Given the description of an element on the screen output the (x, y) to click on. 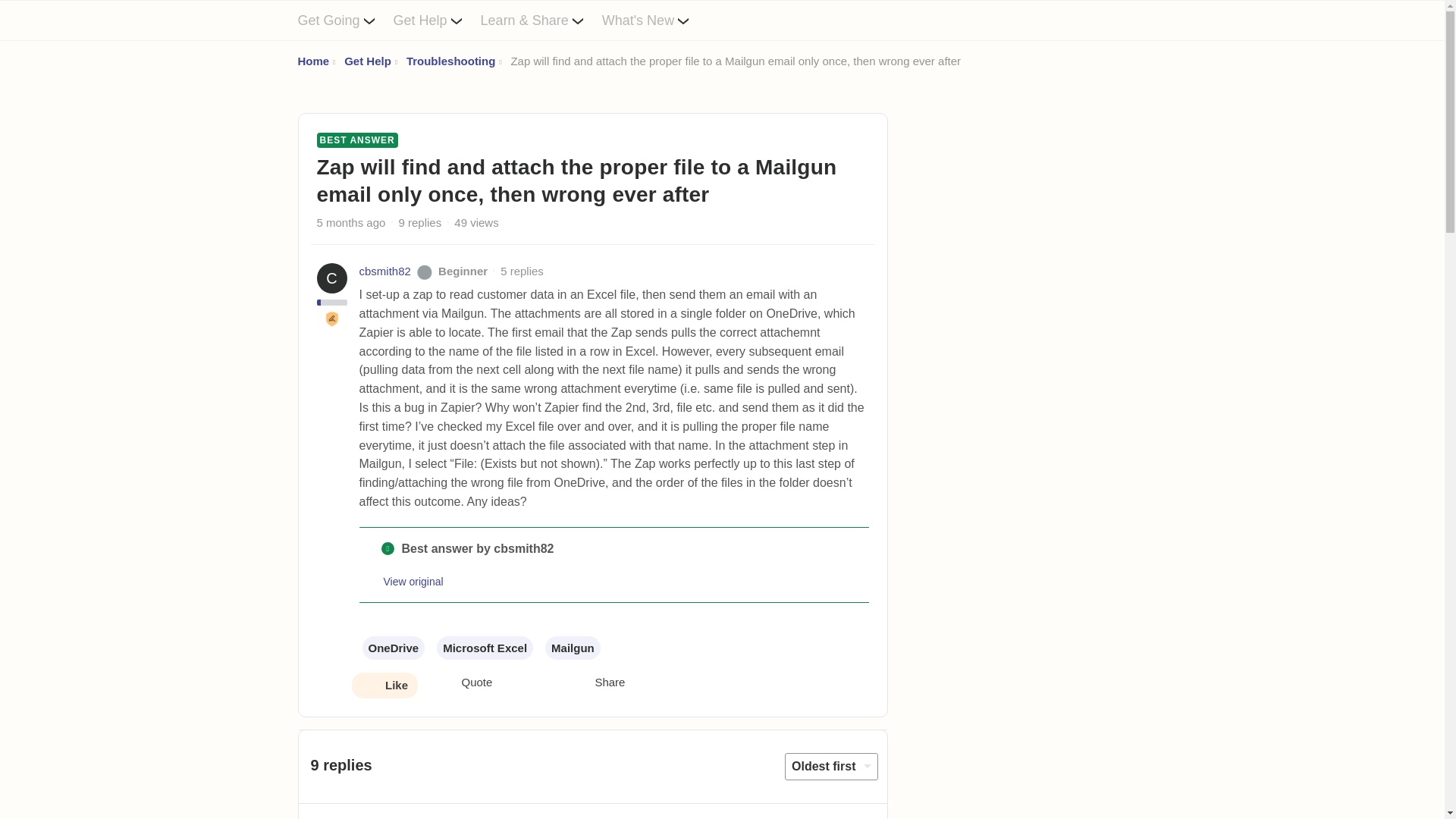
Like (383, 686)
What's New (654, 20)
First Best Answer (331, 319)
Get Help (436, 20)
Microsoft Excel (484, 648)
OneDrive (393, 648)
Get Help (367, 61)
Get Going (345, 20)
cbsmith82 (384, 271)
Home (313, 61)
C (332, 277)
9 replies (420, 222)
View original (414, 581)
cbsmith82 (384, 271)
Troubleshooting (451, 61)
